Given the description of an element on the screen output the (x, y) to click on. 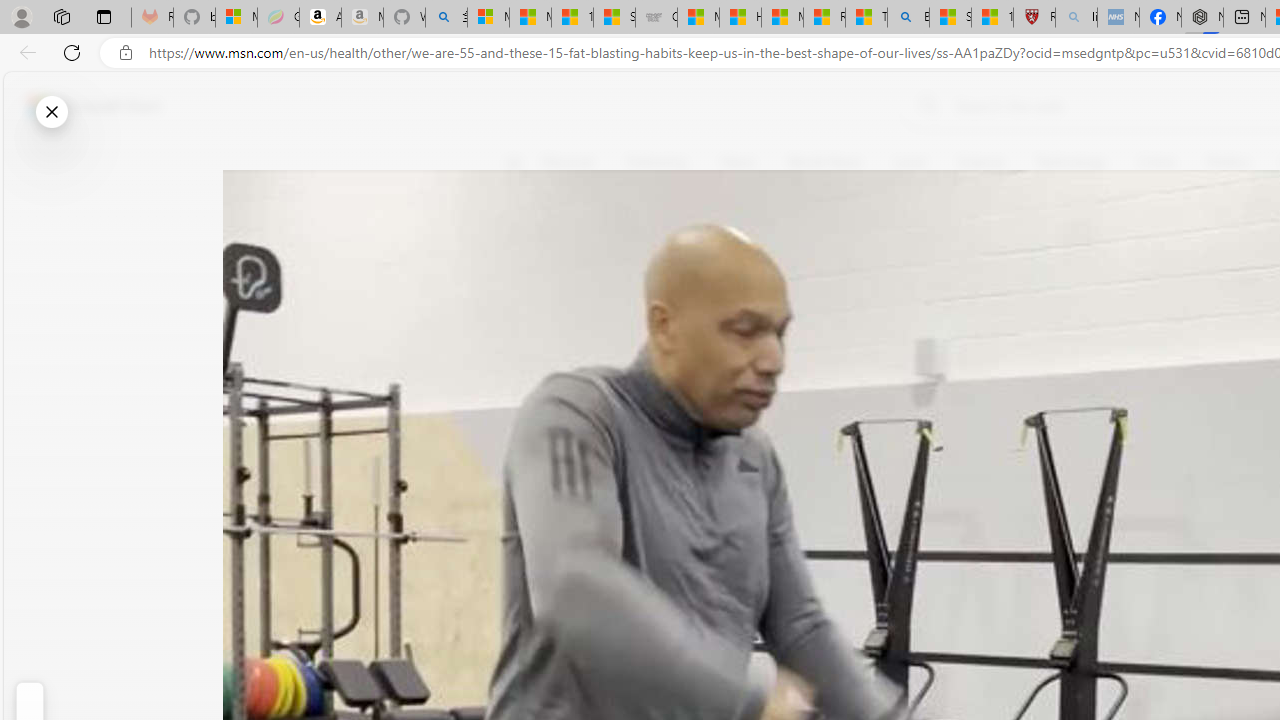
Microsoft Start (94, 105)
Science - MSN (950, 17)
6 (525, 300)
Technology (1071, 162)
World News (824, 162)
Skip to content (86, 105)
Microsoft account | Privacy (488, 17)
Follow (909, 258)
Share this story (525, 412)
6 Like (525, 244)
